Given the description of an element on the screen output the (x, y) to click on. 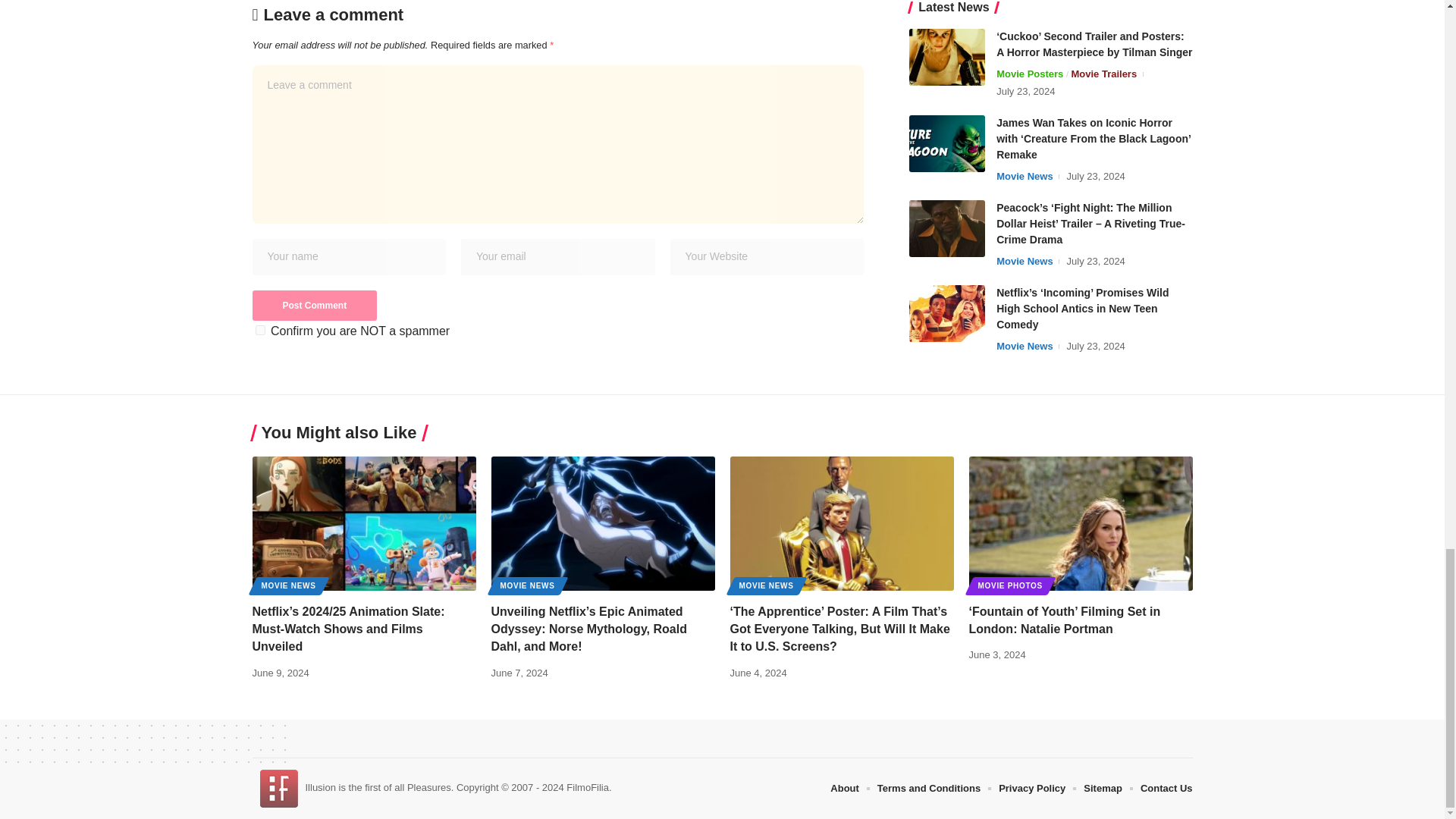
on (259, 329)
Post Comment (314, 305)
